Given the description of an element on the screen output the (x, y) to click on. 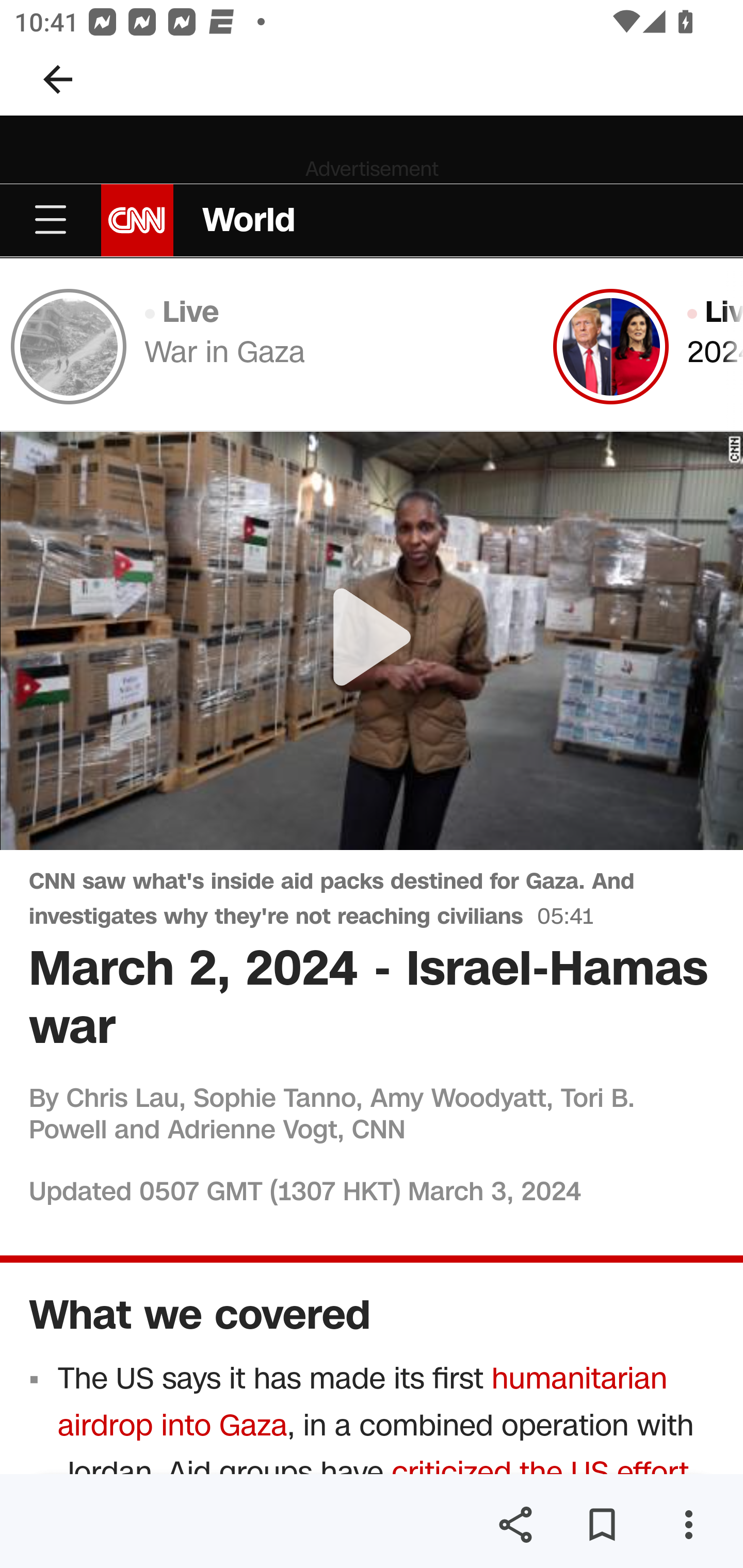
Navigate up (57, 79)
CNN (137, 219)
World (249, 219)
Open Menu (50, 220)
Play (371, 639)
Play (372, 640)
Edition (372, 752)
Tori B. Powell (332, 1112)
humanitarian airdrop into Gaza (362, 1402)
Share (514, 1524)
Save for later (601, 1524)
More options (688, 1524)
